Given the description of an element on the screen output the (x, y) to click on. 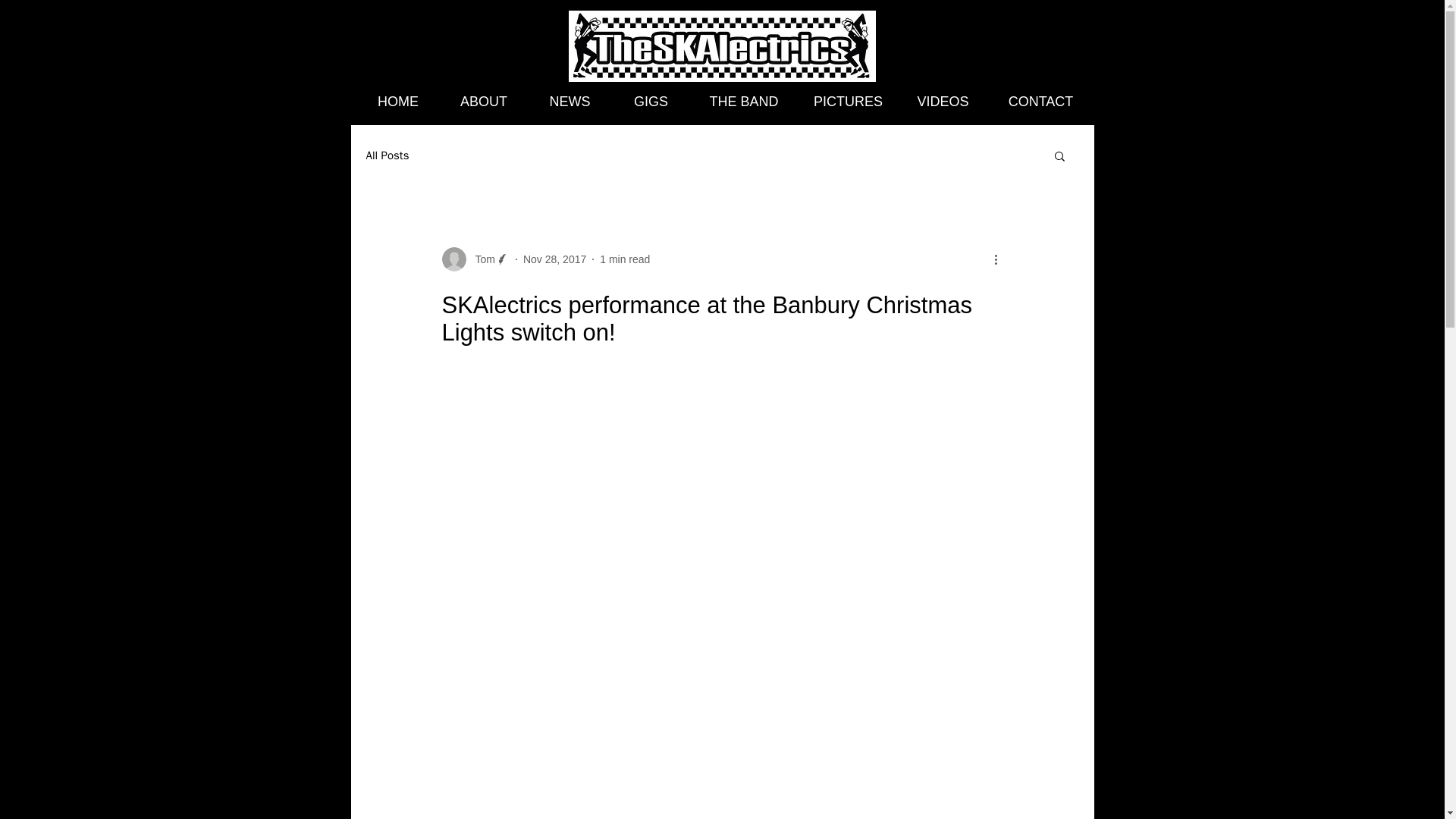
CONTACT (1040, 101)
1 min read (624, 259)
GIGS (651, 101)
ABOUT (483, 101)
VIDEOS (942, 101)
All Posts (387, 155)
HOME (398, 101)
THE BAND (743, 101)
PICTURES (847, 101)
NEWS (569, 101)
Tom (480, 259)
Nov 28, 2017 (554, 259)
